Given the description of an element on the screen output the (x, y) to click on. 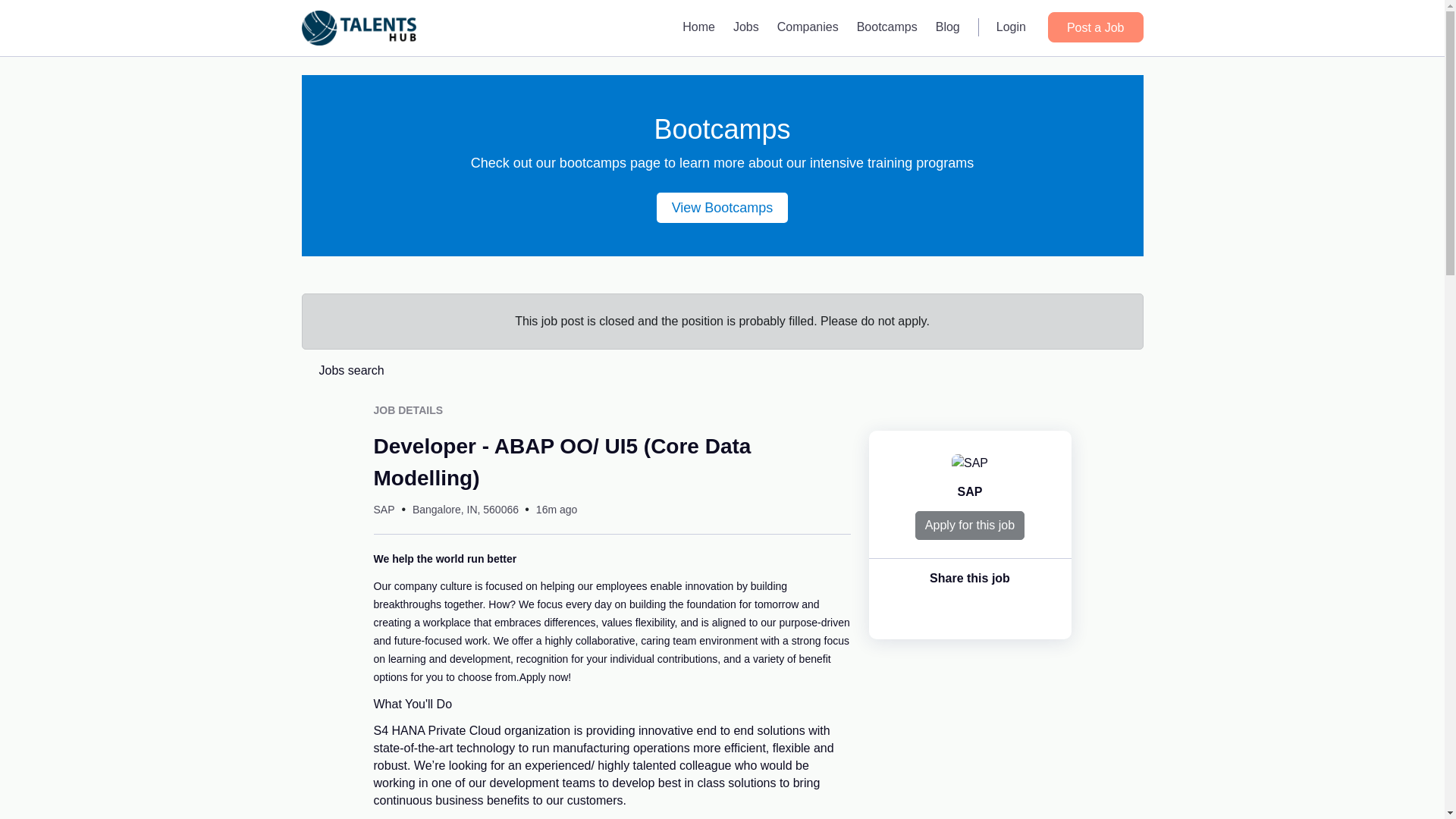
Companies (807, 26)
View Bootcamps (722, 207)
Share to Linkedin (969, 609)
Login (1011, 26)
Home (697, 26)
SAP (970, 491)
Share to Twitter (1001, 609)
SAP (383, 509)
Jobs (745, 26)
Apply for this job (970, 525)
